Given the description of an element on the screen output the (x, y) to click on. 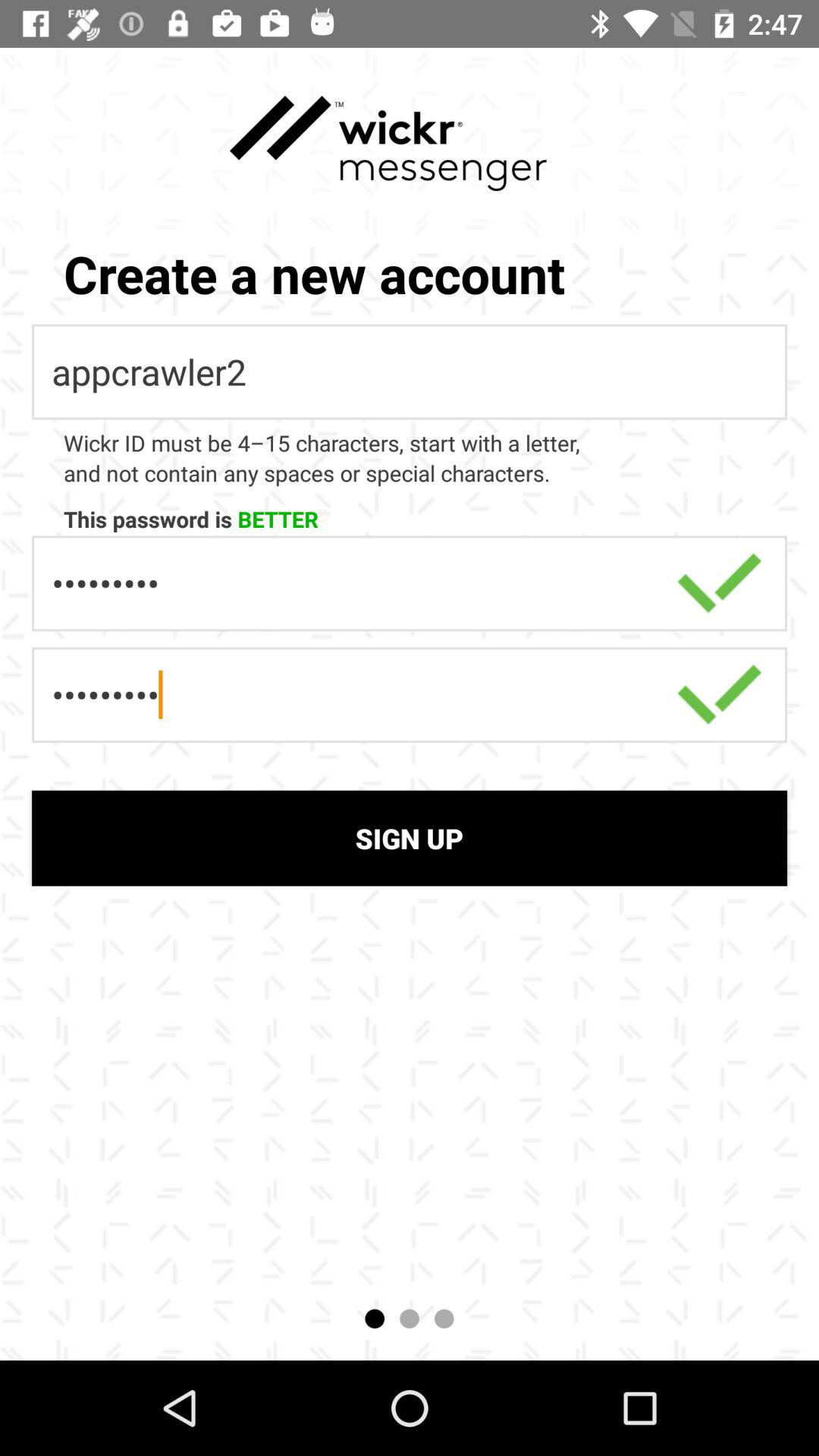
press the icon below the crowd3116 icon (409, 838)
